Given the description of an element on the screen output the (x, y) to click on. 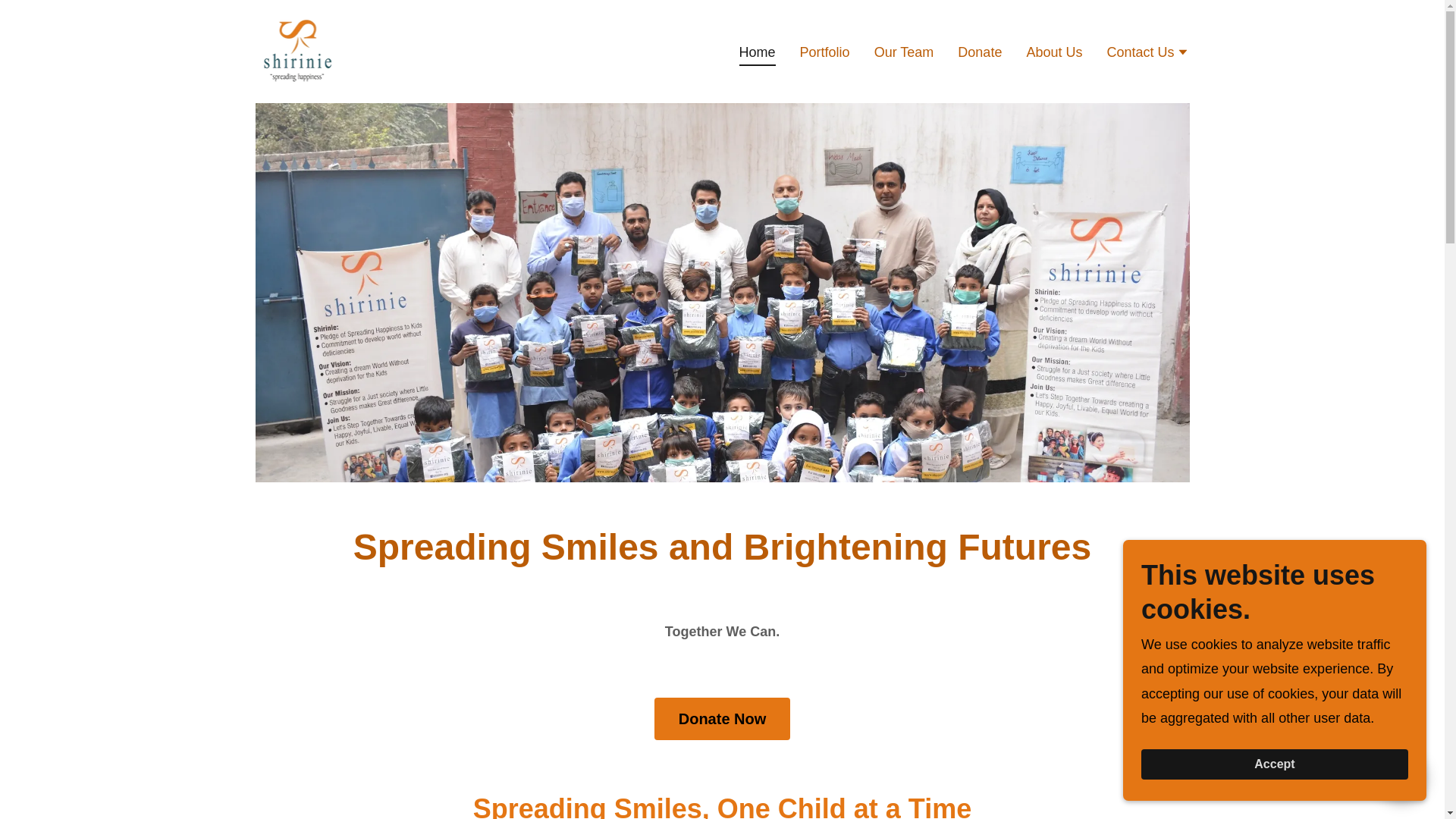
Portfolio (824, 50)
Donate (979, 50)
About Us (1054, 50)
Home (757, 53)
Contact Us (1147, 52)
Our Team (904, 50)
shirinie (296, 50)
Donate Now (721, 718)
